Given the description of an element on the screen output the (x, y) to click on. 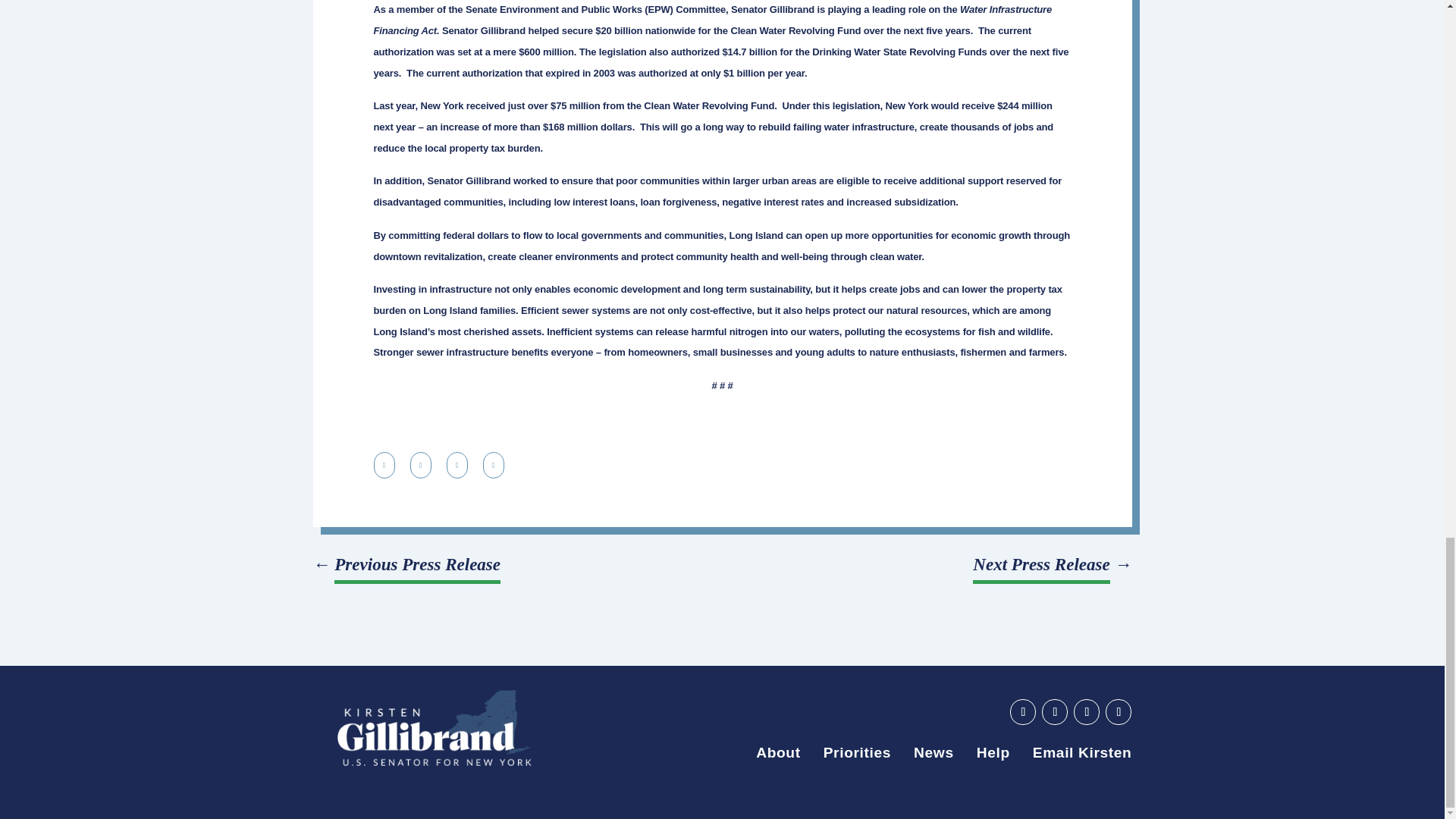
Follow on Twitter (1086, 711)
Follow on Youtube (1022, 711)
Follow on Instagram (1118, 711)
gillibrand-logo (434, 727)
Follow on Facebook (1054, 711)
